Given the description of an element on the screen output the (x, y) to click on. 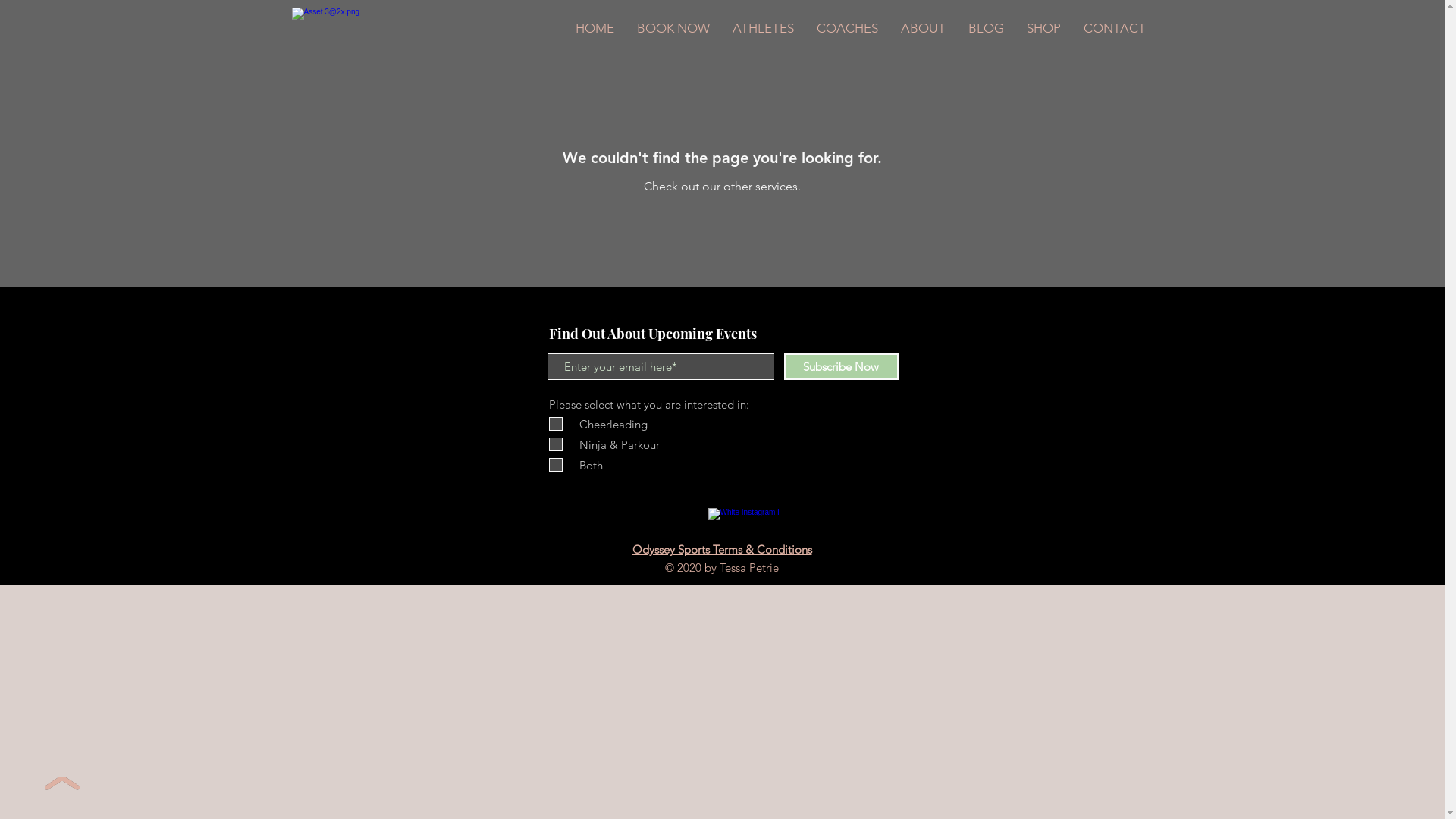
BLOG Element type: text (986, 27)
Odyssey Sports Terms & Conditions Element type: text (722, 549)
BOOK NOW Element type: text (672, 27)
Subscribe Now Element type: text (841, 366)
SHOP Element type: text (1042, 27)
HOME Element type: text (594, 27)
CONTACT Element type: text (1114, 27)
